Given the description of an element on the screen output the (x, y) to click on. 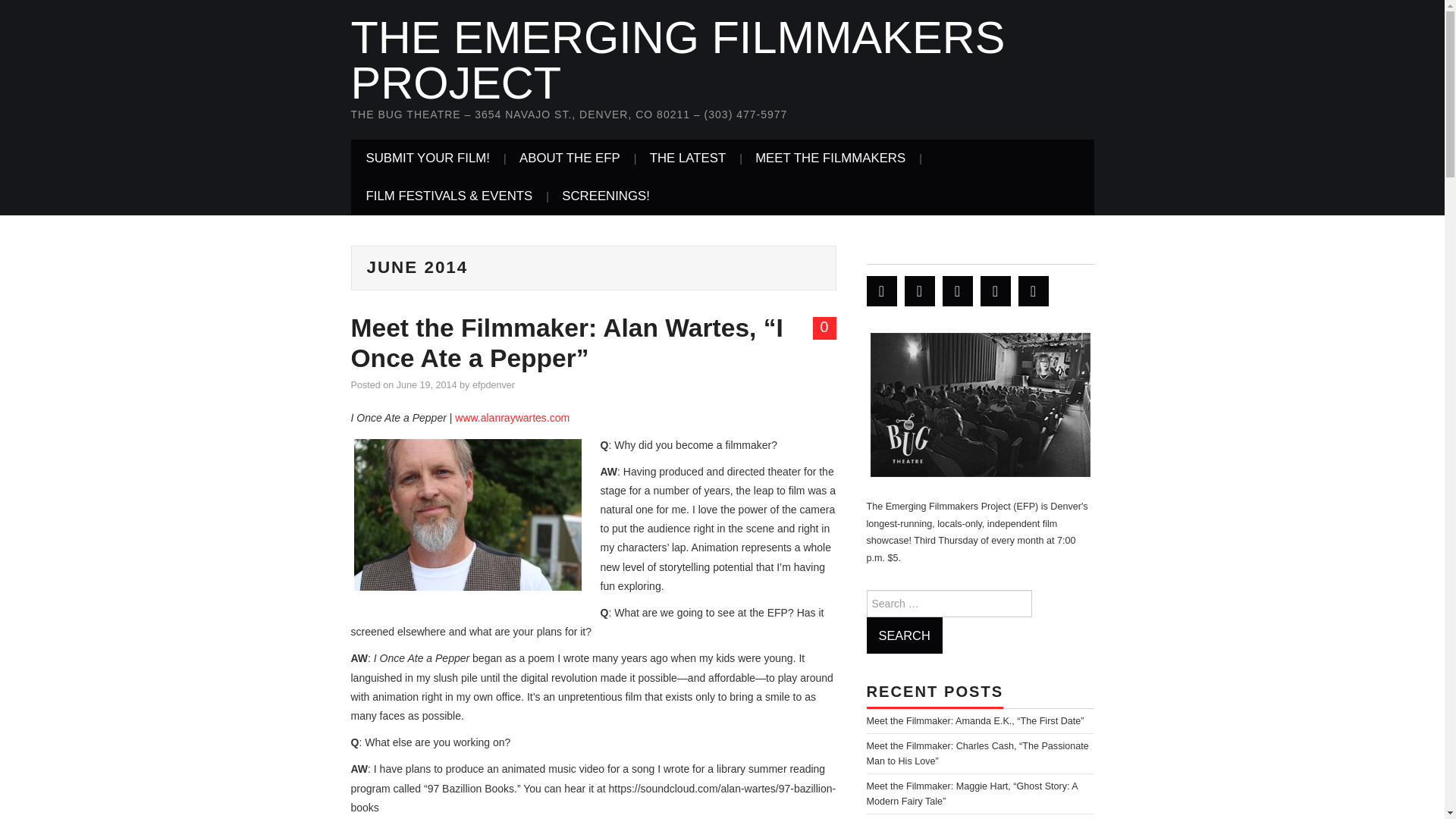
ABOUT THE EFP (568, 158)
SCREENINGS! (606, 196)
Instagram (1032, 291)
SUBMIT YOUR FILM! (427, 158)
3:08 pm (426, 385)
View all posts by efpdenver (493, 385)
Search (904, 635)
Flickr (994, 291)
THE EMERGING FILMMAKERS PROJECT (677, 60)
Facebook (919, 291)
